Given the description of an element on the screen output the (x, y) to click on. 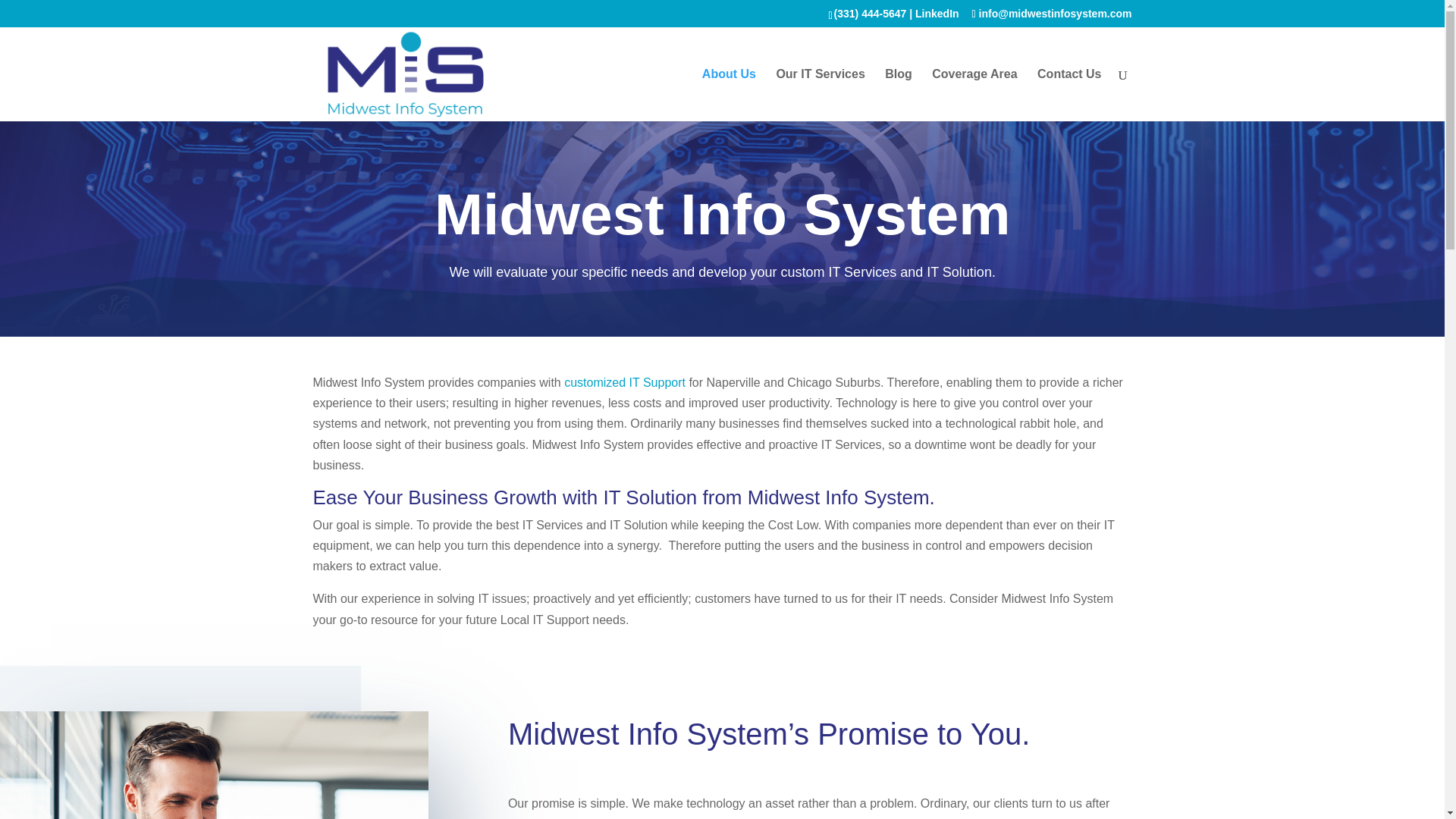
About Us (728, 94)
Coverage Area (973, 94)
Contact Us (1068, 94)
Our IT Services (820, 94)
customized IT Support (624, 382)
LinkedIn (937, 13)
